Given the description of an element on the screen output the (x, y) to click on. 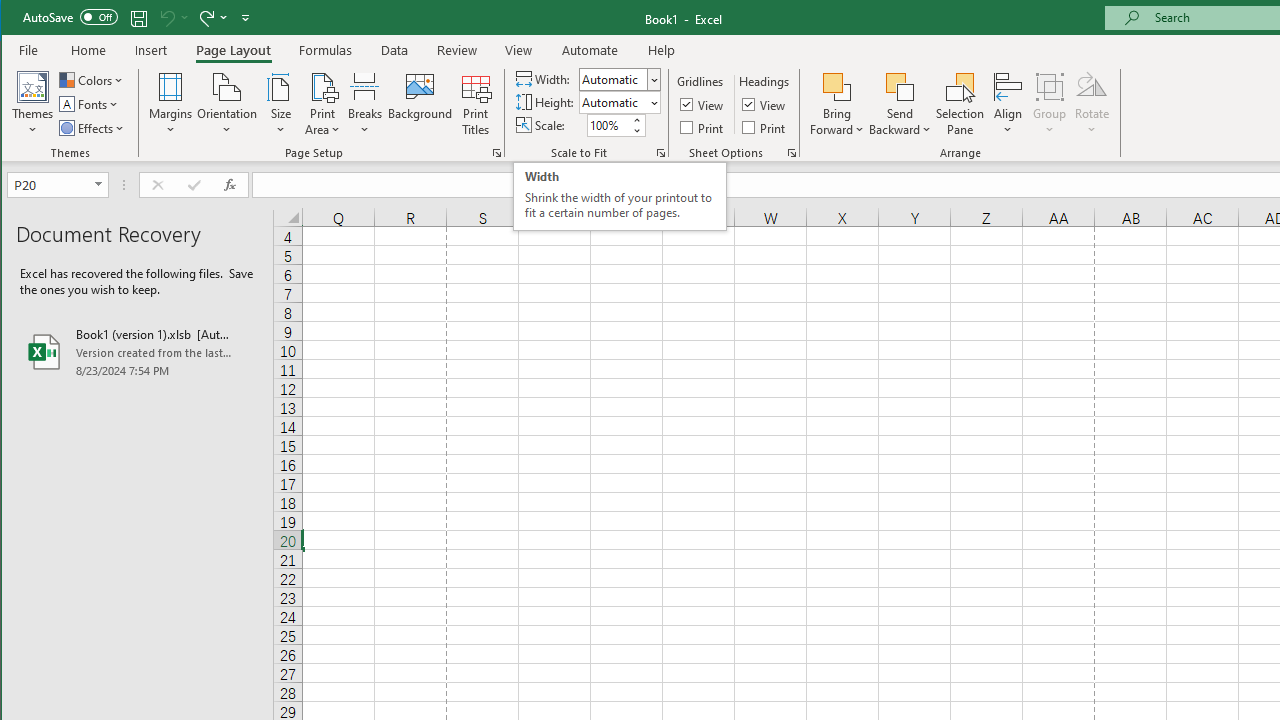
Effects (93, 127)
Margins (170, 104)
Size (280, 104)
Breaks (365, 104)
Sheet Options (791, 152)
Page Setup (660, 152)
Fonts (90, 103)
